Given the description of an element on the screen output the (x, y) to click on. 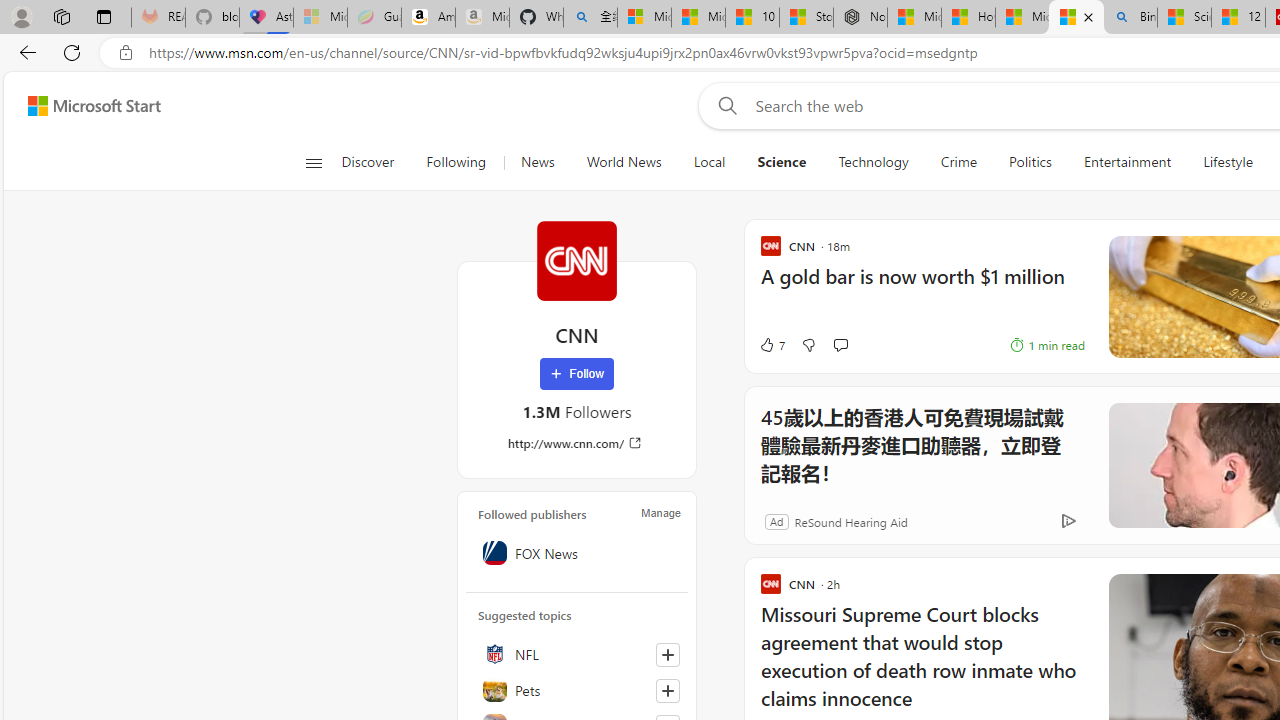
A gold bar is now worth $1 million (900, 286)
Open navigation menu (313, 162)
Manage (660, 512)
Bing (1130, 17)
